Given the description of an element on the screen output the (x, y) to click on. 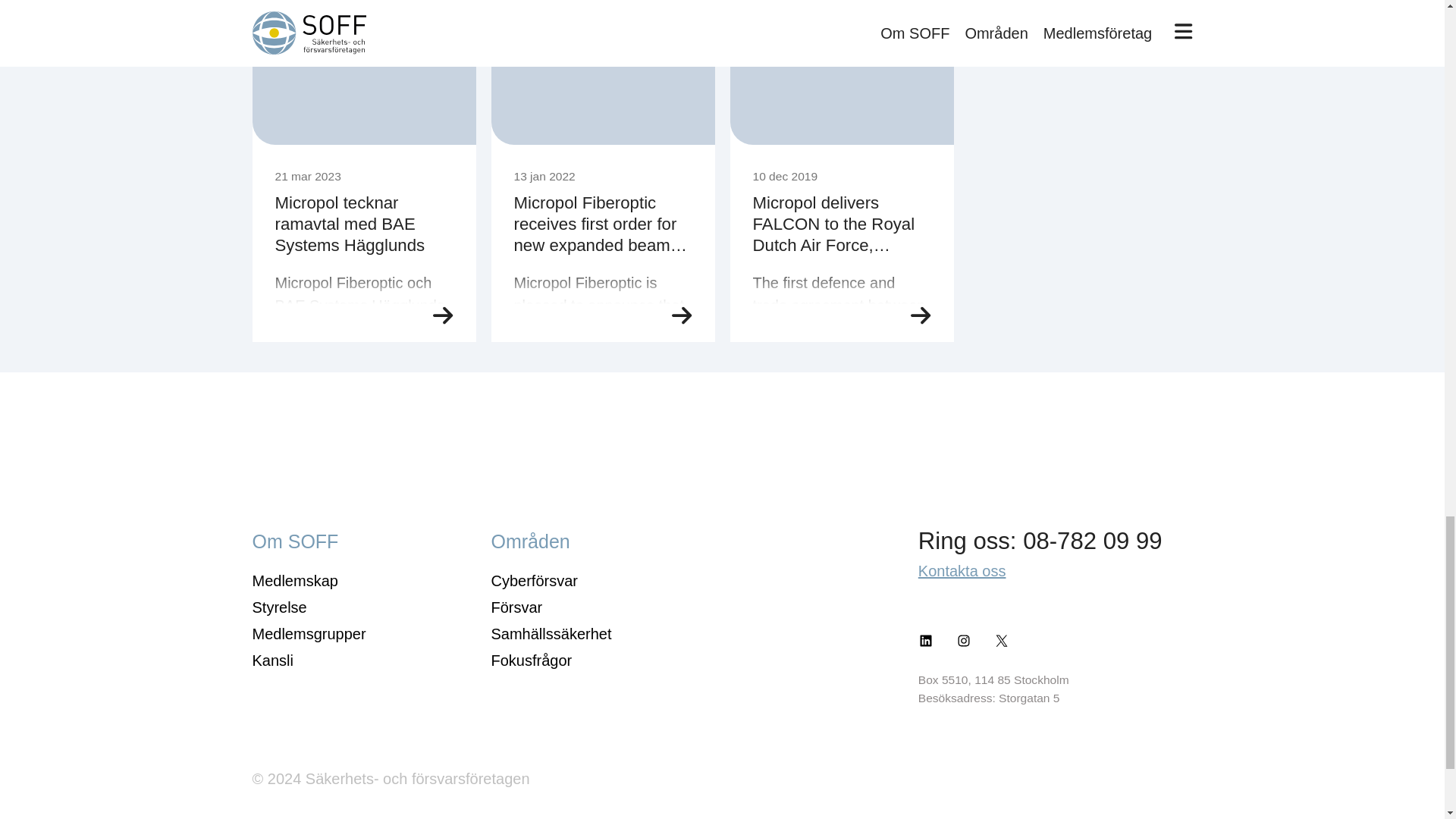
Kansli (271, 660)
Om SOFF (294, 541)
Medlemskap (294, 580)
Styrelse (278, 606)
Medlemsgrupper (308, 633)
